Given the description of an element on the screen output the (x, y) to click on. 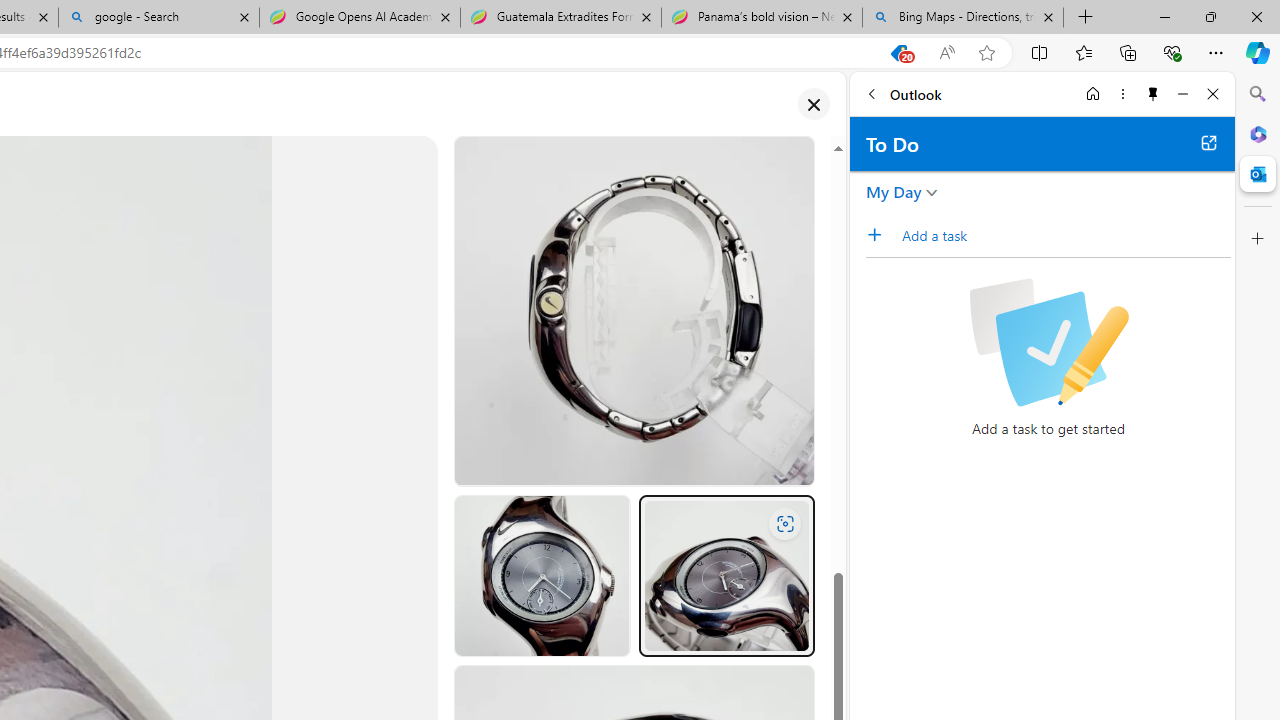
Checkbox with a pencil (1047, 342)
Close image gallery dialog (813, 103)
